Given the description of an element on the screen output the (x, y) to click on. 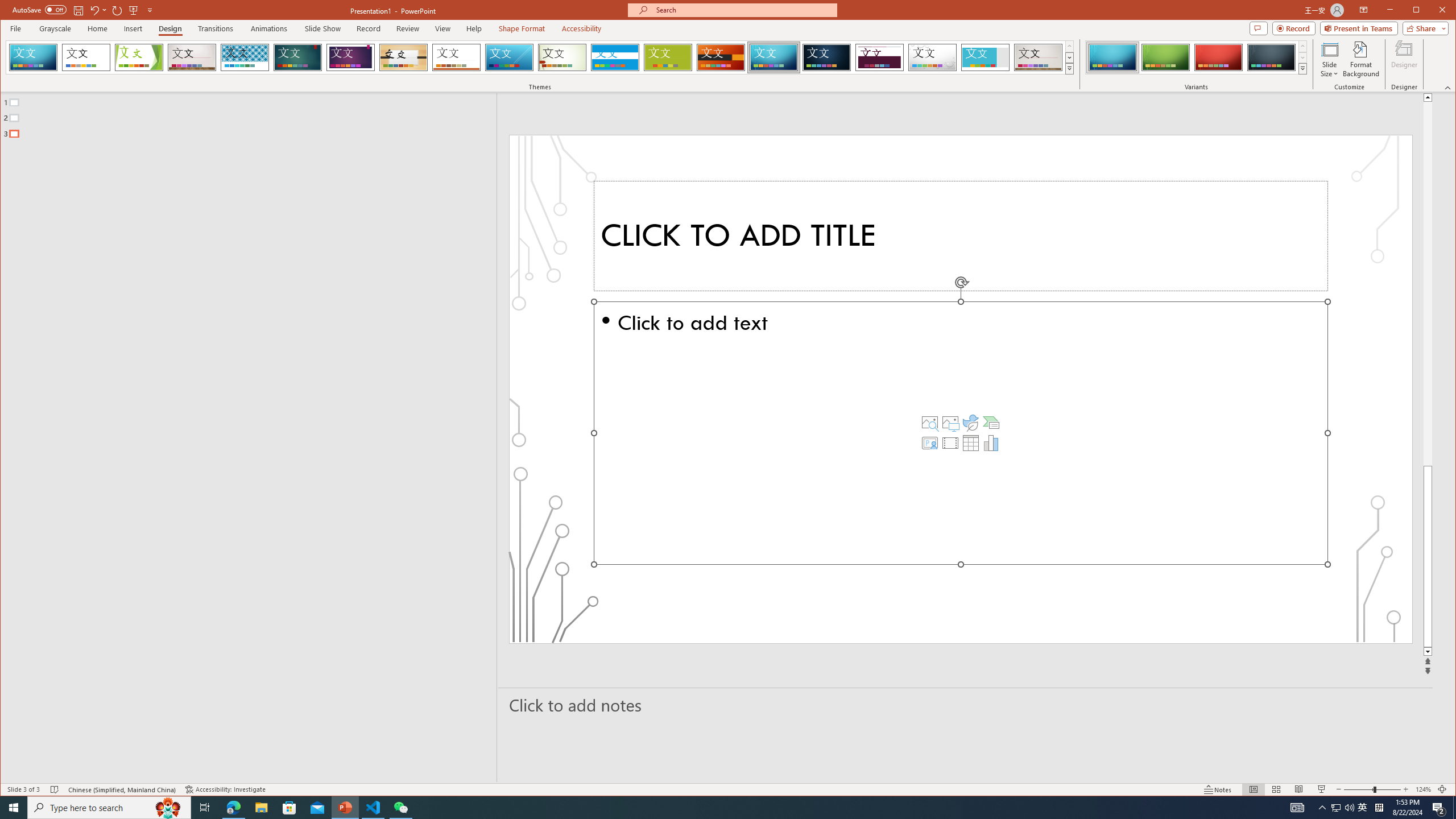
Insert Cameo (929, 443)
Insert Chart (991, 443)
Circuit (773, 57)
Slice (509, 57)
Circuit Variant 3 (1218, 57)
